Given the description of an element on the screen output the (x, y) to click on. 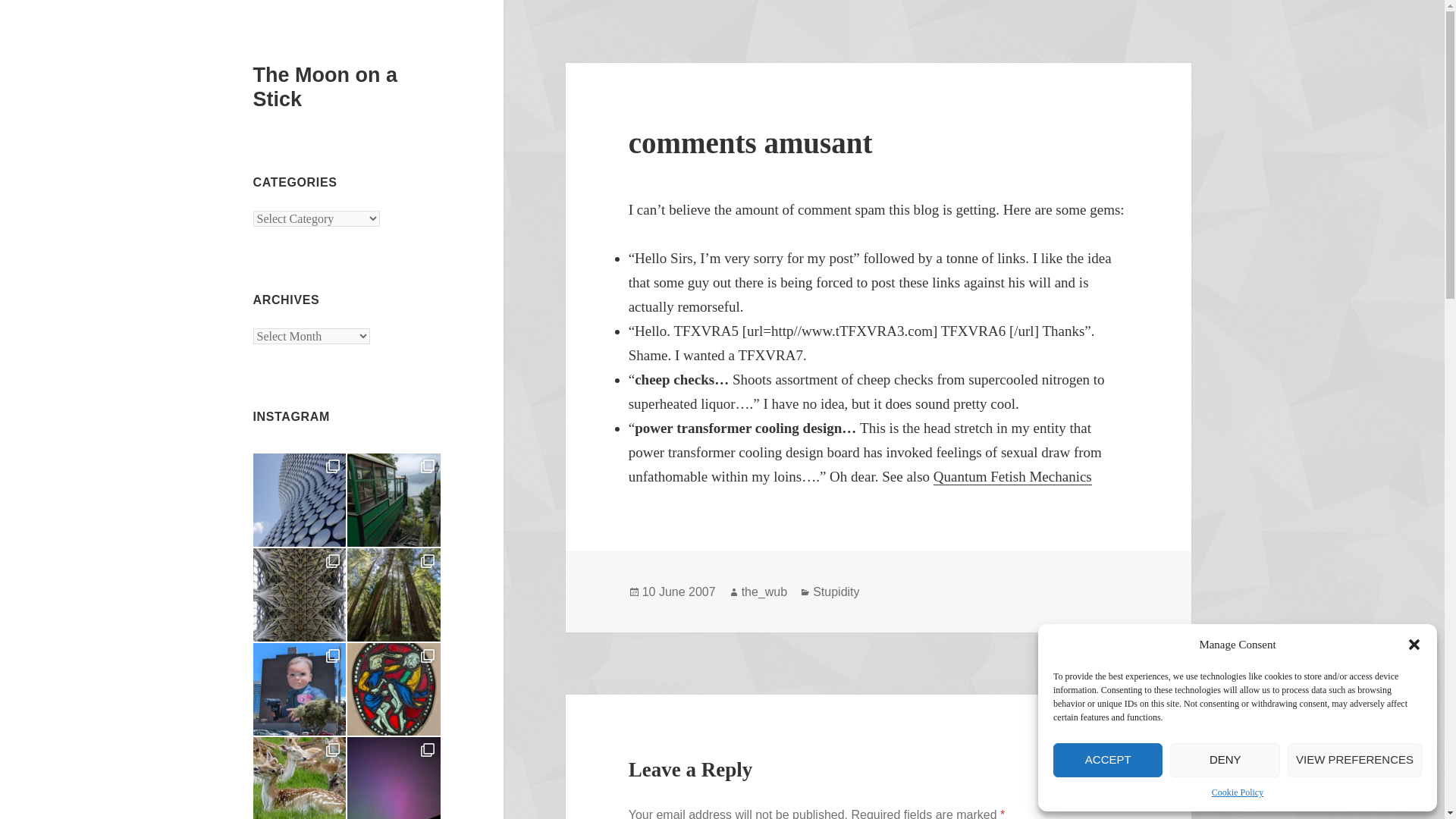
Cookie Policy (1237, 792)
VIEW PREFERENCES (1354, 759)
ACCEPT (1106, 759)
The Moon on a Stick (325, 86)
DENY (1224, 759)
